Given the description of an element on the screen output the (x, y) to click on. 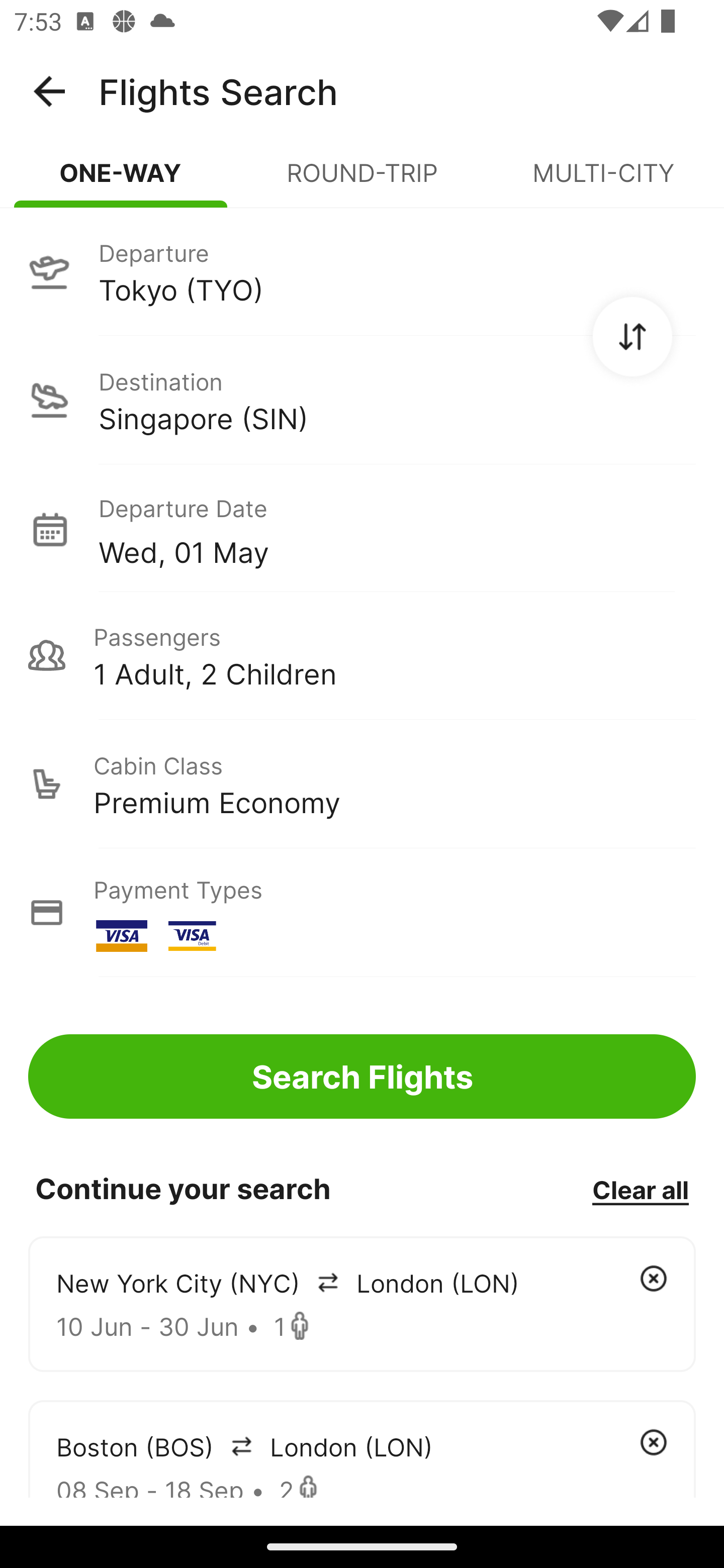
ONE-WAY (120, 180)
ROUND-TRIP (361, 180)
MULTI-CITY (603, 180)
Departure Tokyo (TYO) (362, 270)
Destination Singapore (SIN) (362, 400)
Departure Date Wed, 01 May (396, 528)
Passengers 1 Adult, 2 Children (362, 655)
Cabin Class Premium Economy (362, 783)
Payment Types (362, 912)
Search Flights (361, 1075)
Clear all (640, 1189)
